Given the description of an element on the screen output the (x, y) to click on. 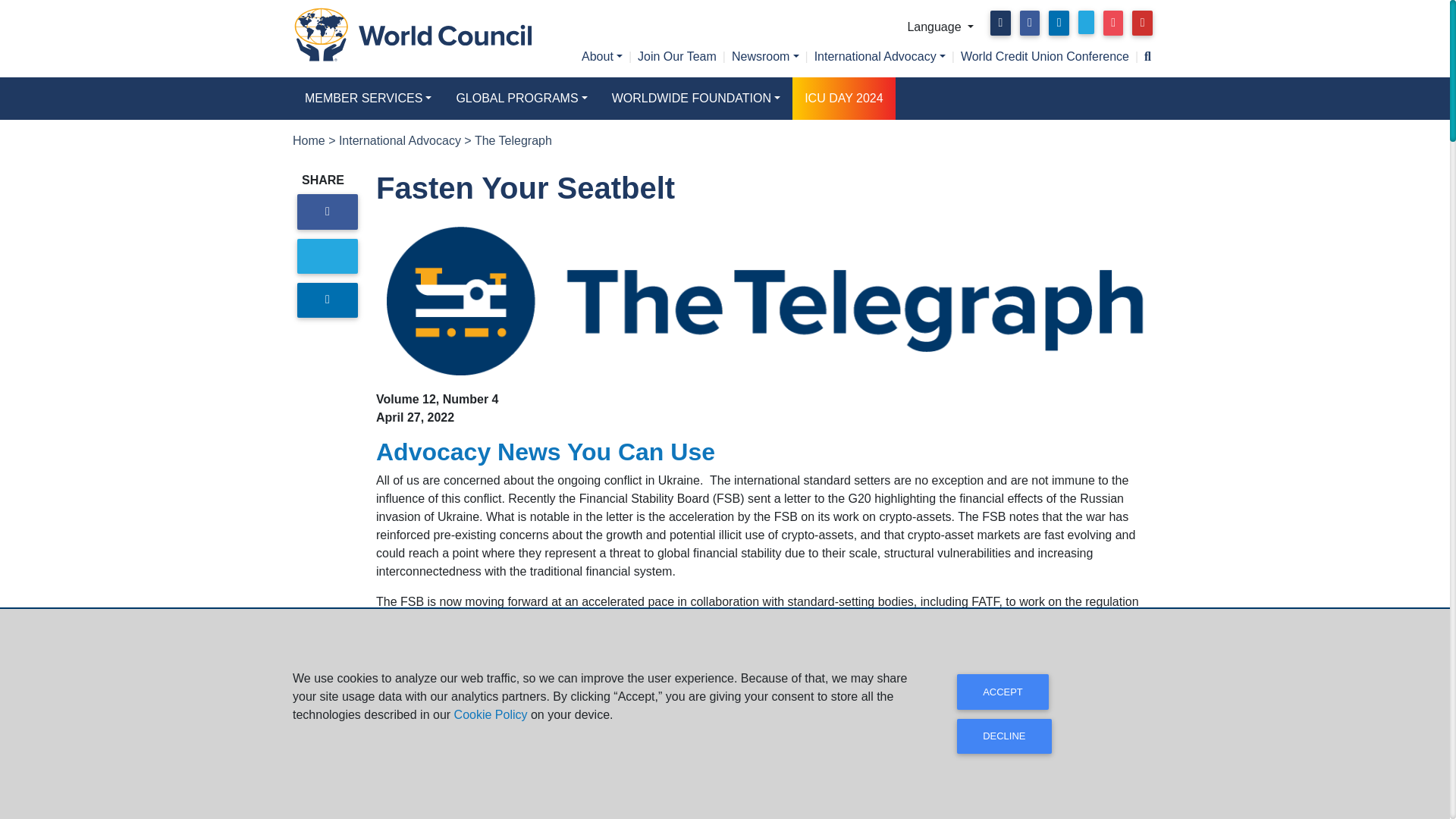
World Credit Union Conference (1045, 56)
Newsroom (765, 56)
Join Our Team (676, 56)
International Advocacy (880, 56)
Language (940, 27)
MEMBER SERVICES (368, 97)
About (601, 56)
